Given the description of an element on the screen output the (x, y) to click on. 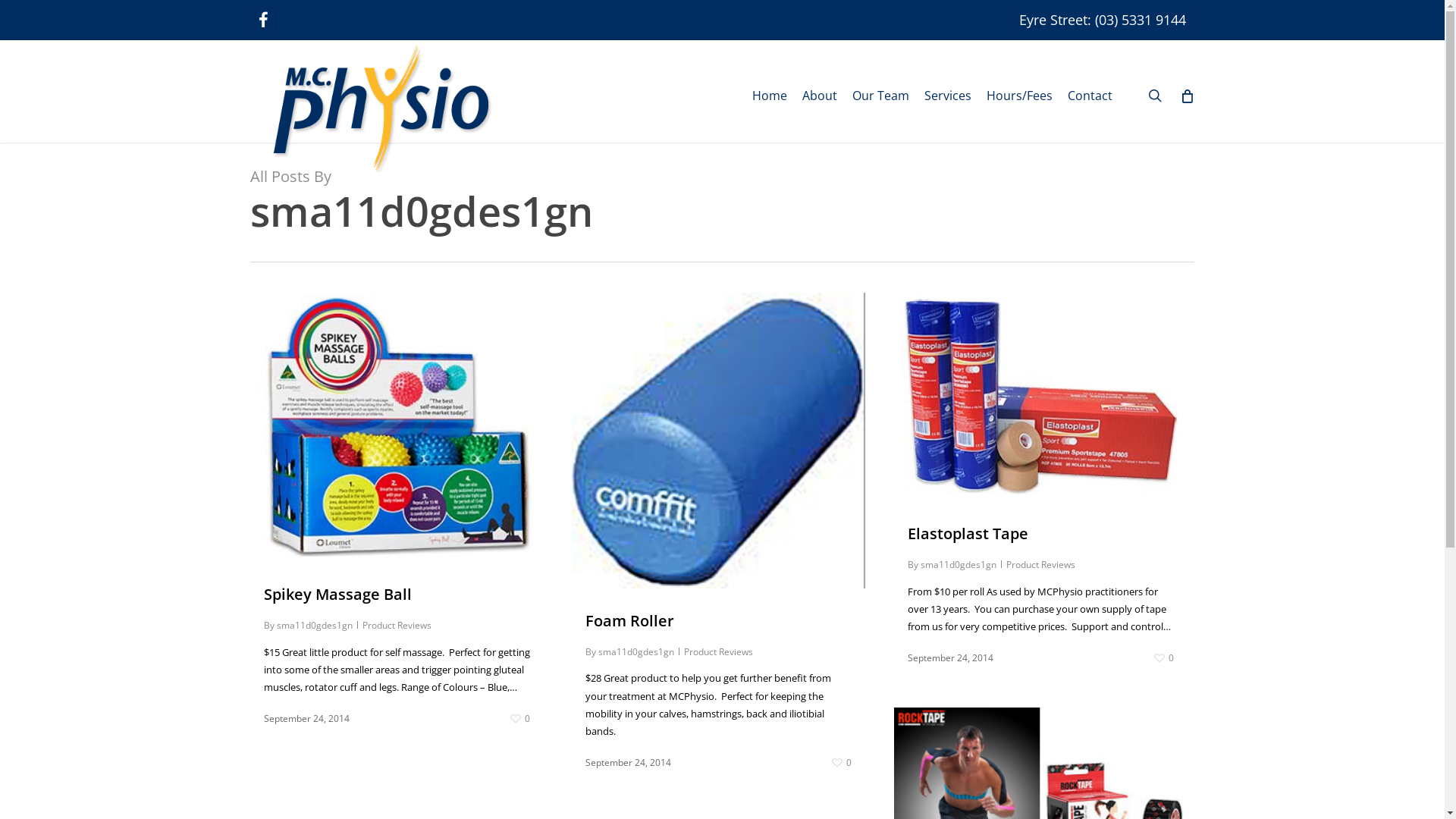
Product Reviews Element type: text (1040, 564)
Contact Element type: text (1089, 95)
Foam Roller Element type: text (629, 620)
Our Team Element type: text (880, 95)
About Element type: text (819, 95)
facebook Element type: text (263, 20)
search Element type: text (1154, 95)
0 Element type: text (520, 718)
Home Element type: text (769, 95)
sma11d0gdes1gn Element type: text (314, 624)
Services Element type: text (947, 95)
0 Element type: text (1163, 657)
sma11d0gdes1gn Element type: text (636, 651)
sma11d0gdes1gn Element type: text (958, 564)
Product Reviews Element type: text (396, 624)
Elastoplast Tape Element type: text (967, 533)
0 Element type: text (841, 762)
Hours/Fees Element type: text (1019, 95)
Product Reviews Element type: text (718, 651)
Eyre Street: (03) 5331 9144 Element type: text (1101, 19)
Spikey Massage Ball Element type: text (337, 593)
